Given the description of an element on the screen output the (x, y) to click on. 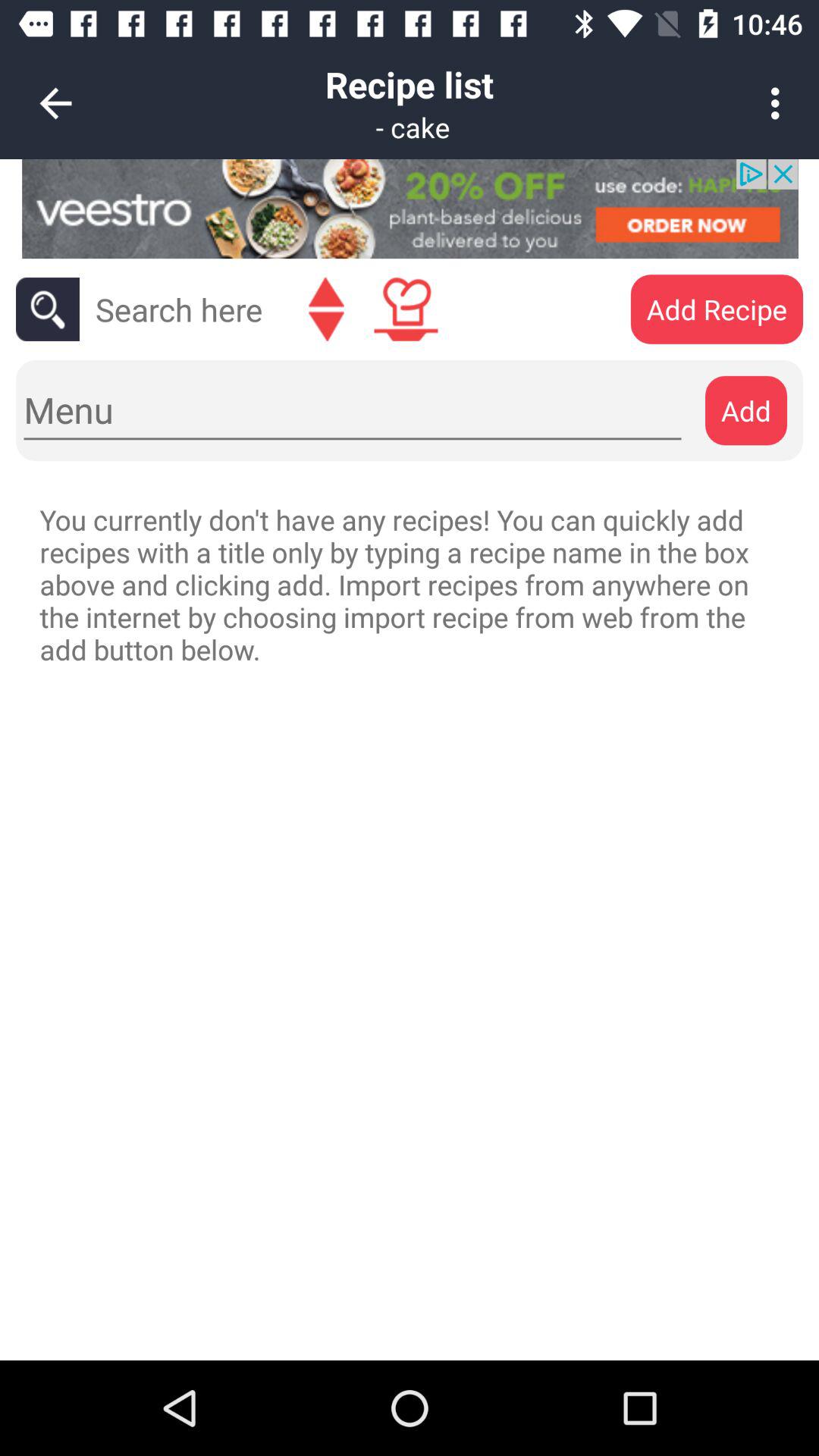
search bar (178, 309)
